Given the description of an element on the screen output the (x, y) to click on. 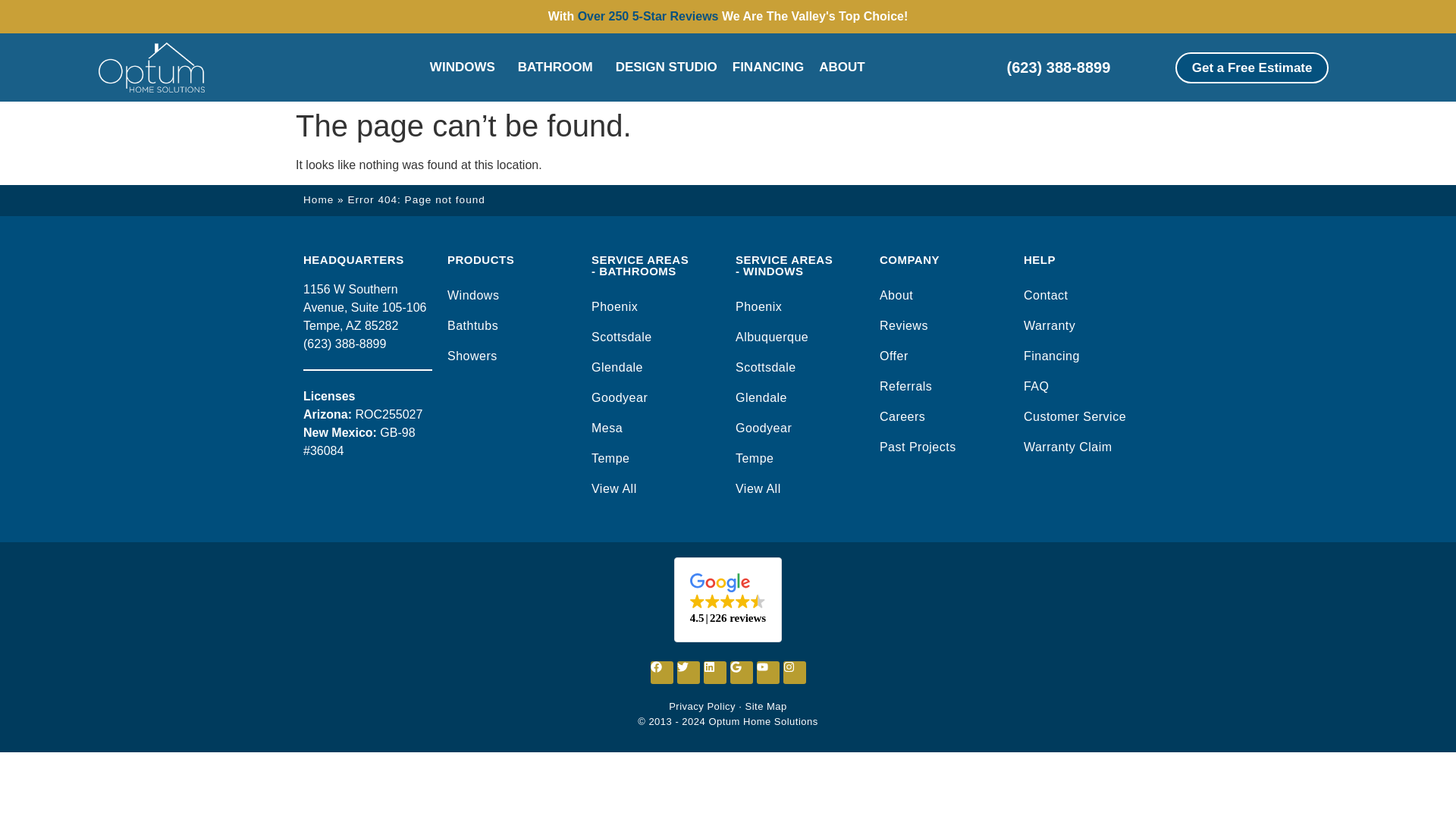
FINANCING (767, 67)
ABOUT (844, 67)
DESIGN STUDIO (666, 67)
Over 250 5-Star Reviews (648, 15)
WINDOWS (466, 67)
BATHROOM (559, 67)
